Given the description of an element on the screen output the (x, y) to click on. 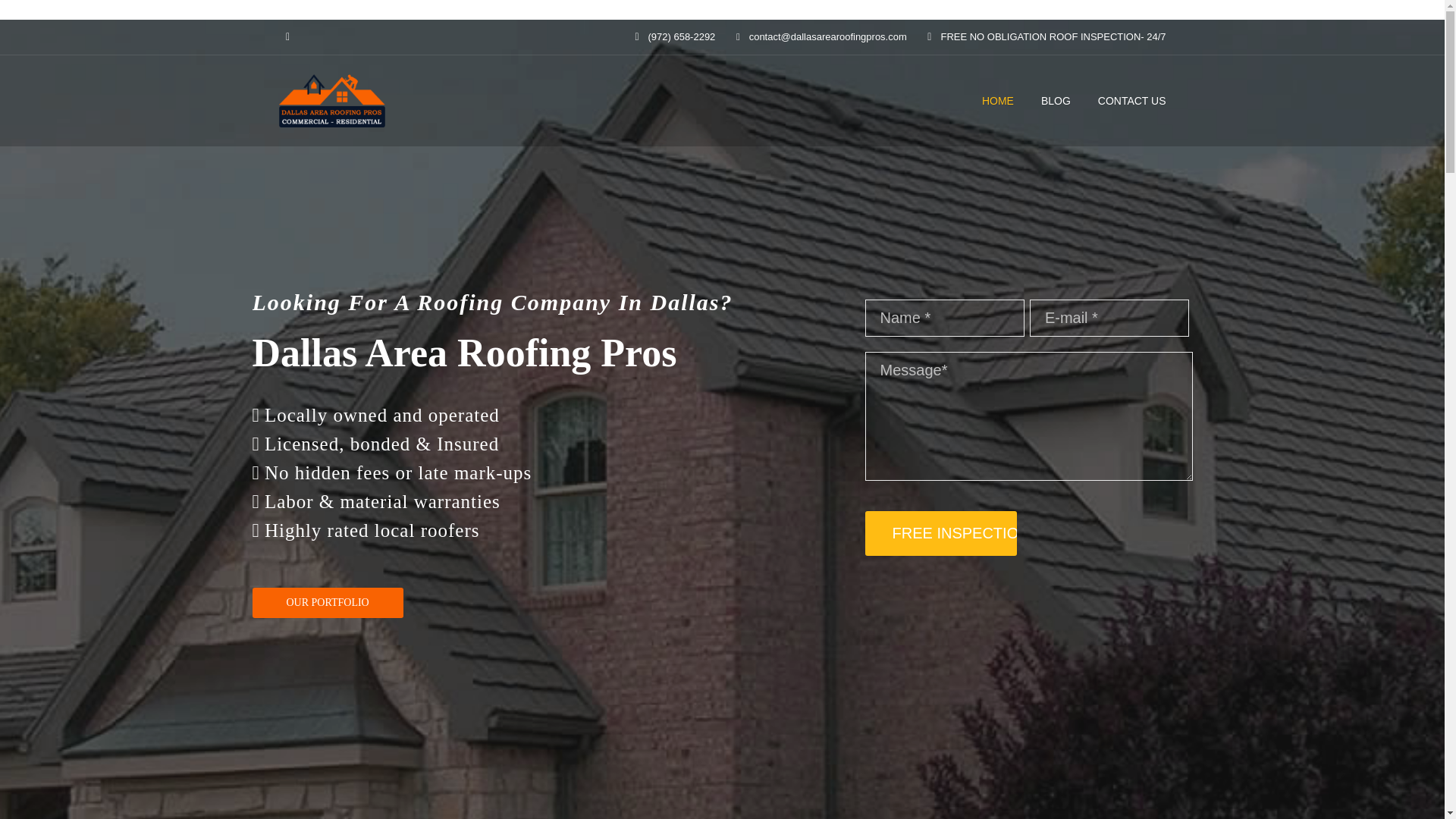
Blog (1055, 100)
FREE INSPECTION (940, 533)
CONTACT US (1131, 100)
FREE INSPECTION (940, 533)
BLOG (1055, 100)
Contact Us (1131, 100)
Home (997, 100)
HOME (997, 100)
